Given the description of an element on the screen output the (x, y) to click on. 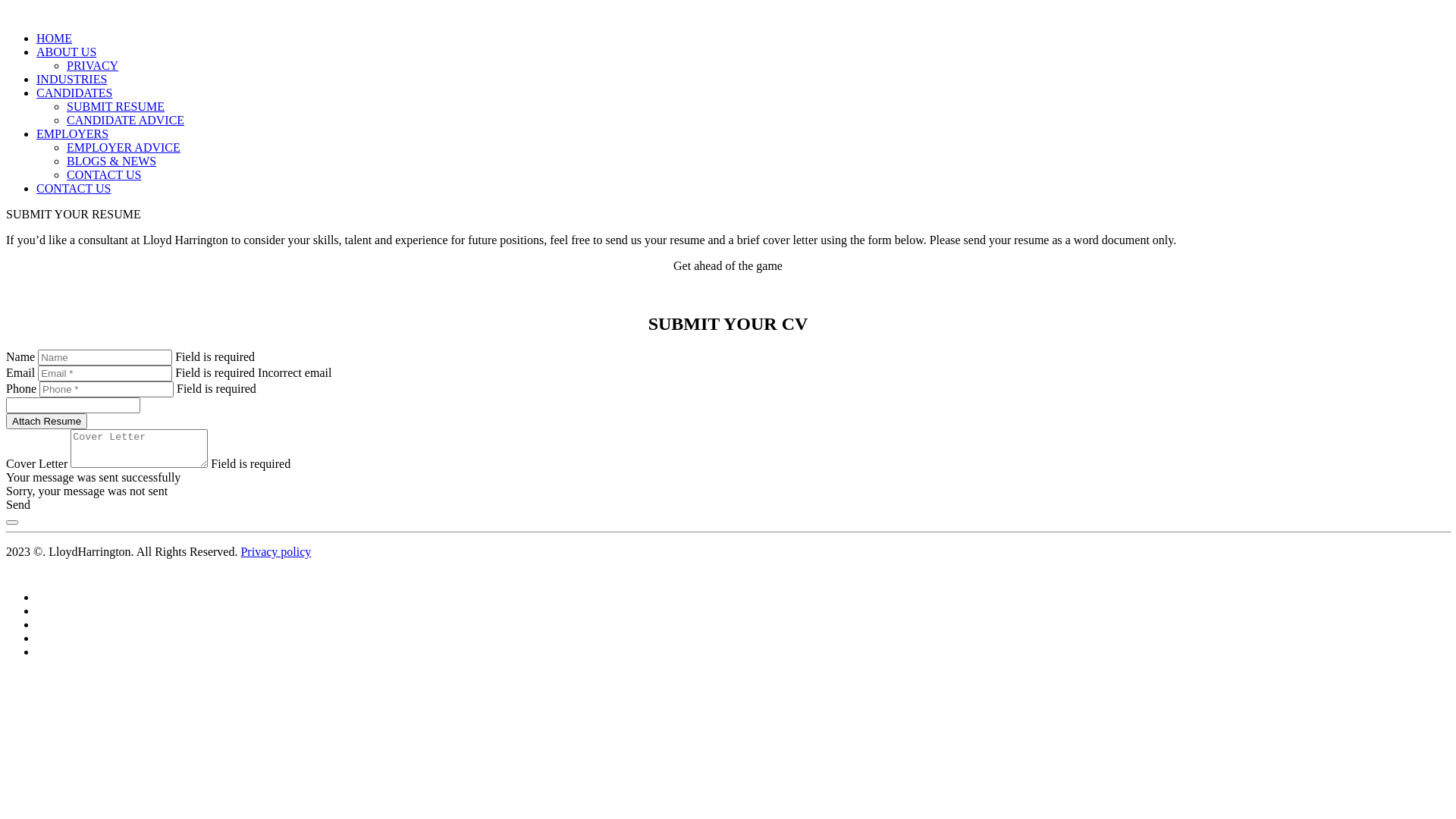
EMPLOYERS Element type: text (72, 133)
CONTACT US Element type: text (103, 174)
SUBMIT RESUME Element type: text (115, 106)
Privacy policy Element type: text (275, 551)
CANDIDATE ADVICE Element type: text (125, 119)
CONTACT US Element type: text (73, 188)
EMPLOYER ADVICE Element type: text (123, 147)
Attach Resume Element type: text (46, 421)
CANDIDATES Element type: text (74, 92)
BLOGS & NEWS Element type: text (111, 160)
Send Element type: text (18, 504)
INDUSTRIES Element type: text (71, 78)
ABOUT US Element type: text (66, 51)
HOME Element type: text (54, 37)
PRIVACY Element type: text (92, 65)
